Given the description of an element on the screen output the (x, y) to click on. 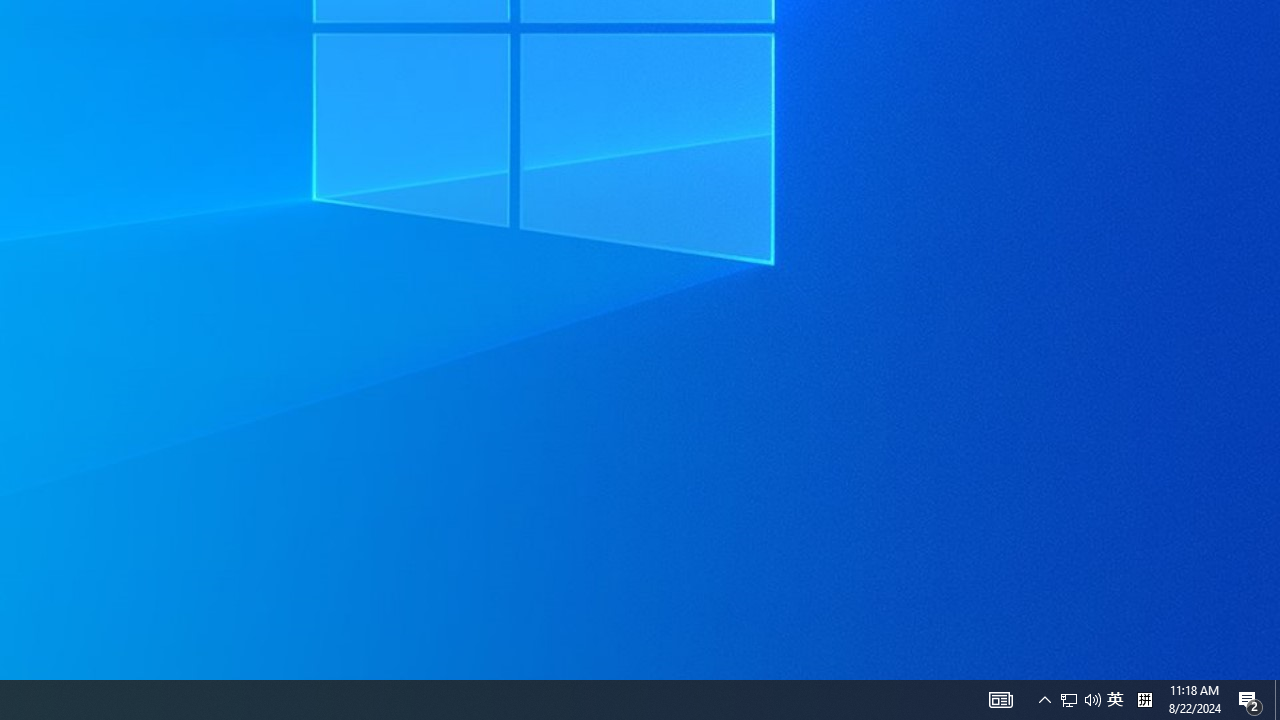
Q2790: 100% (1092, 699)
Show desktop (1277, 699)
User Promoted Notification Area (1080, 699)
Notification Chevron (1115, 699)
AutomationID: 4105 (1044, 699)
Action Center, 2 new notifications (1000, 699)
Tray Input Indicator - Chinese (Simplified, China) (1250, 699)
